Given the description of an element on the screen output the (x, y) to click on. 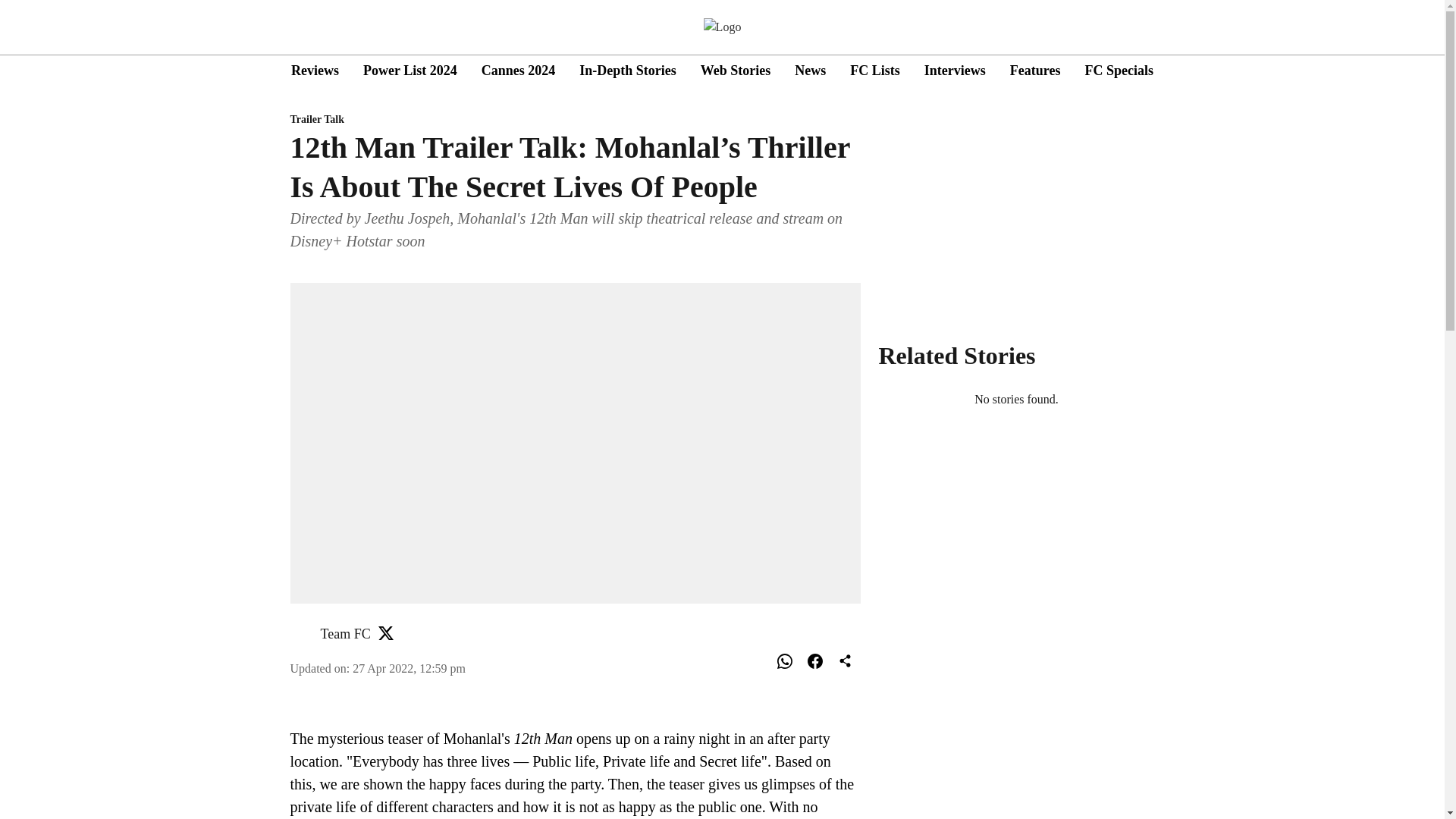
Interviews (954, 70)
Reviews (315, 70)
Power List 2024 (409, 70)
Cannes 2024 (518, 70)
Team FC (344, 633)
Trailer Talk (574, 119)
In-Depth Stories (628, 70)
FC Lists (874, 70)
Web Stories (735, 70)
News (809, 70)
Features (1035, 70)
